Given the description of an element on the screen output the (x, y) to click on. 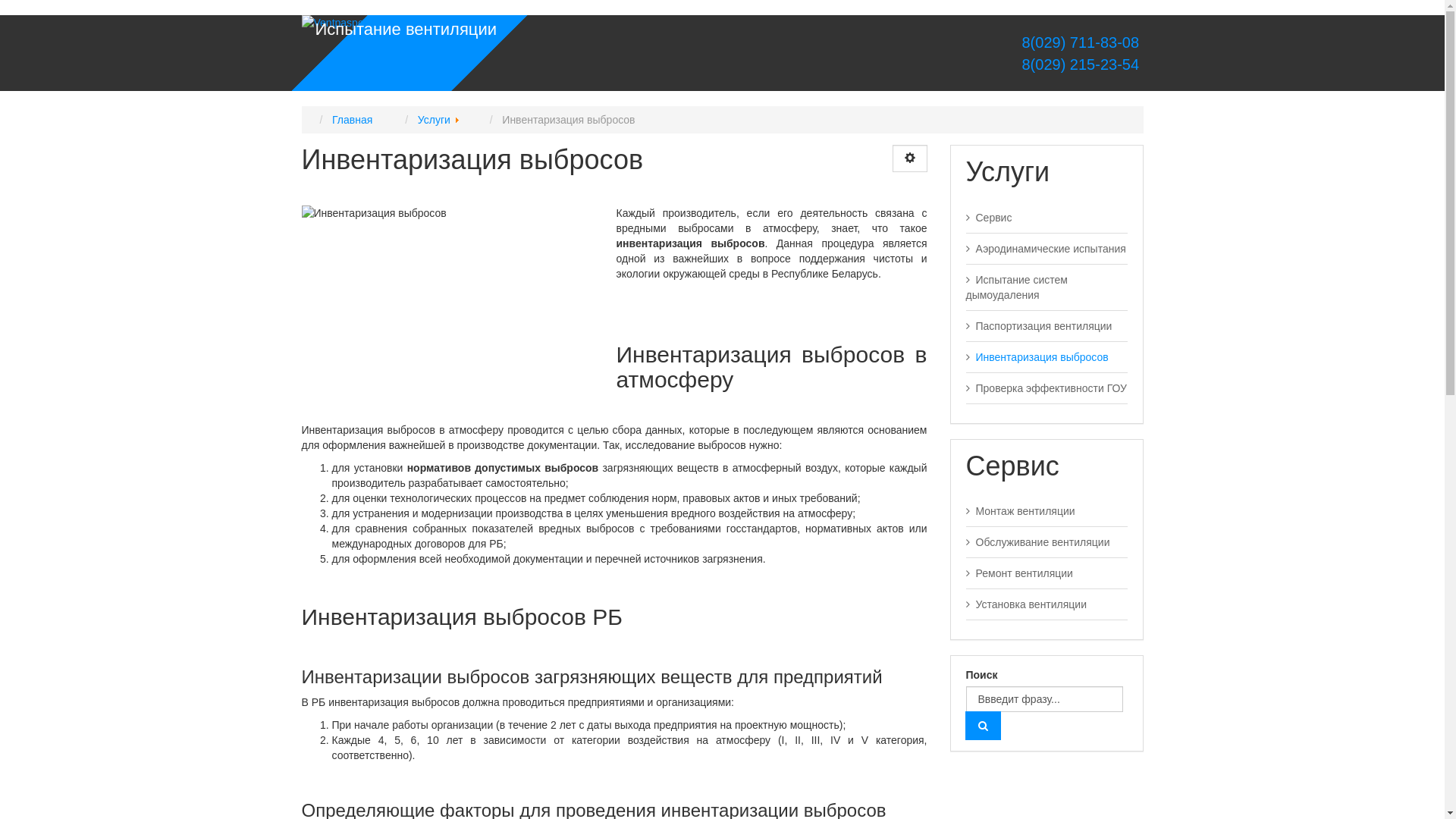
8(029) 215-23-54 Element type: text (1080, 64)
8(029) 711-83-08 Element type: text (1080, 42)
